Given the description of an element on the screen output the (x, y) to click on. 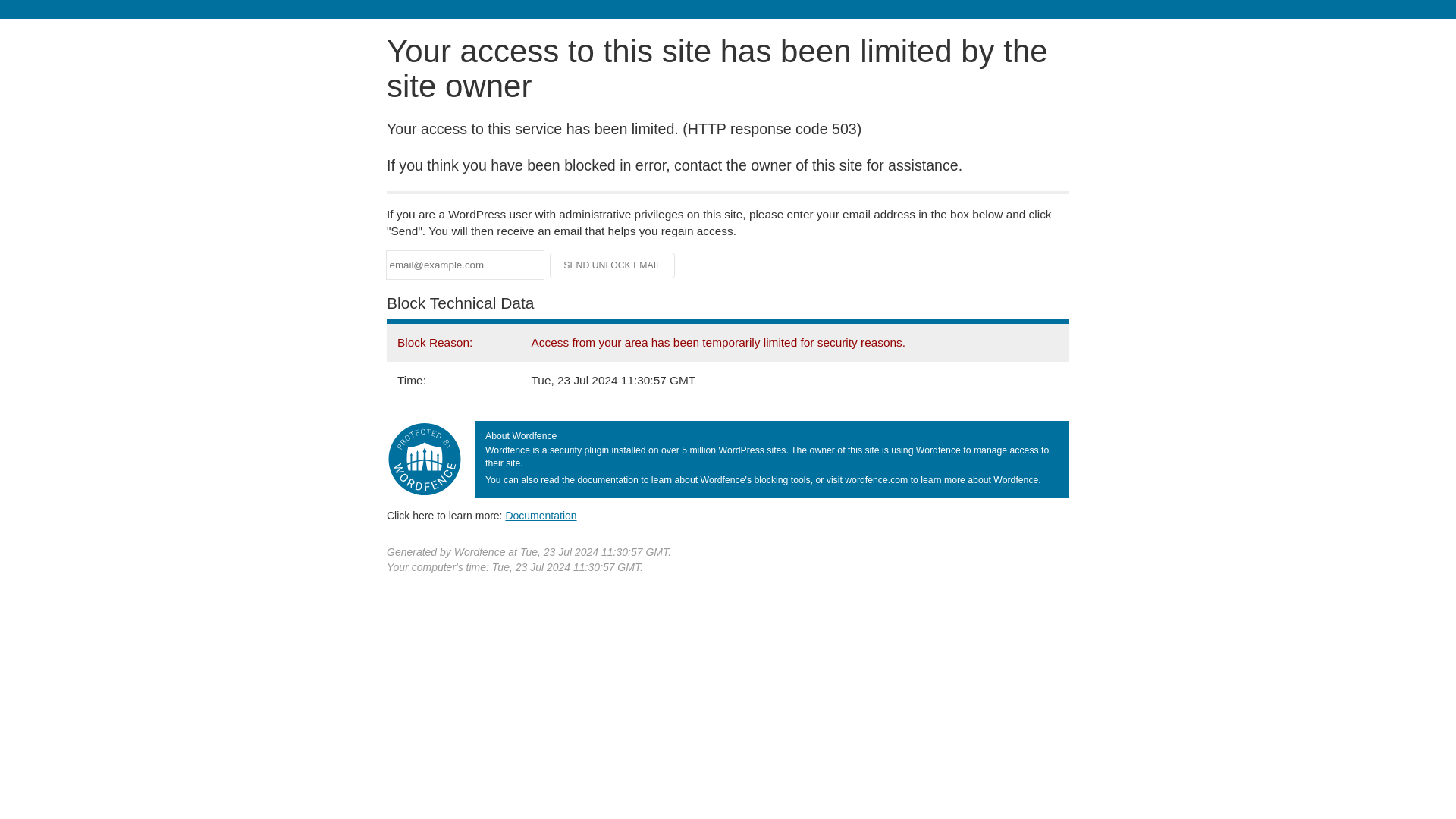
Documentation (540, 515)
Send Unlock Email (612, 265)
Send Unlock Email (612, 265)
